Given the description of an element on the screen output the (x, y) to click on. 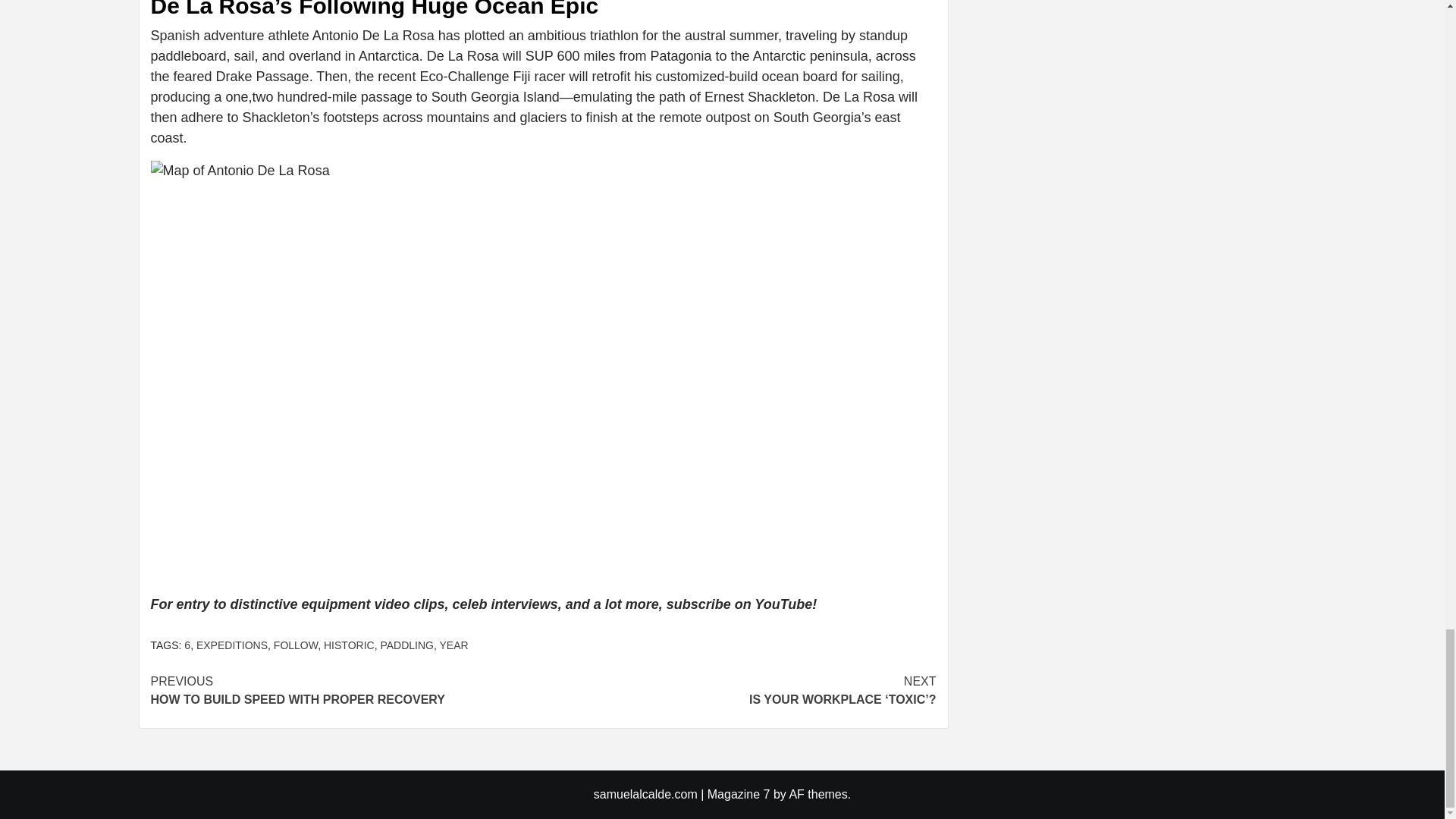
EXPEDITIONS (231, 645)
FOLLOW (295, 645)
PADDLING (406, 645)
YEAR (453, 645)
HISTORIC (346, 690)
